Given the description of an element on the screen output the (x, y) to click on. 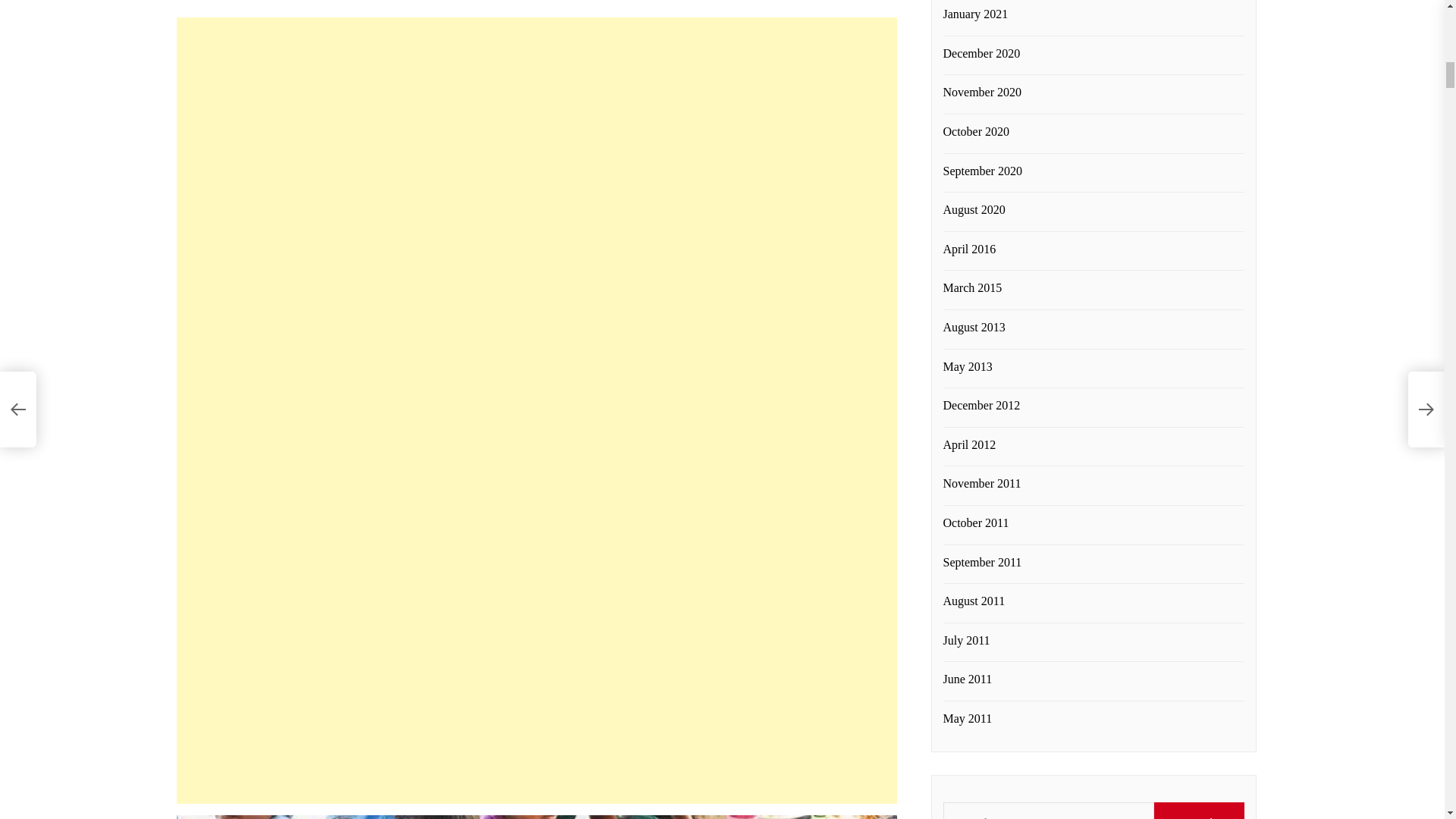
Search (1199, 810)
Search (1199, 810)
